Given the description of an element on the screen output the (x, y) to click on. 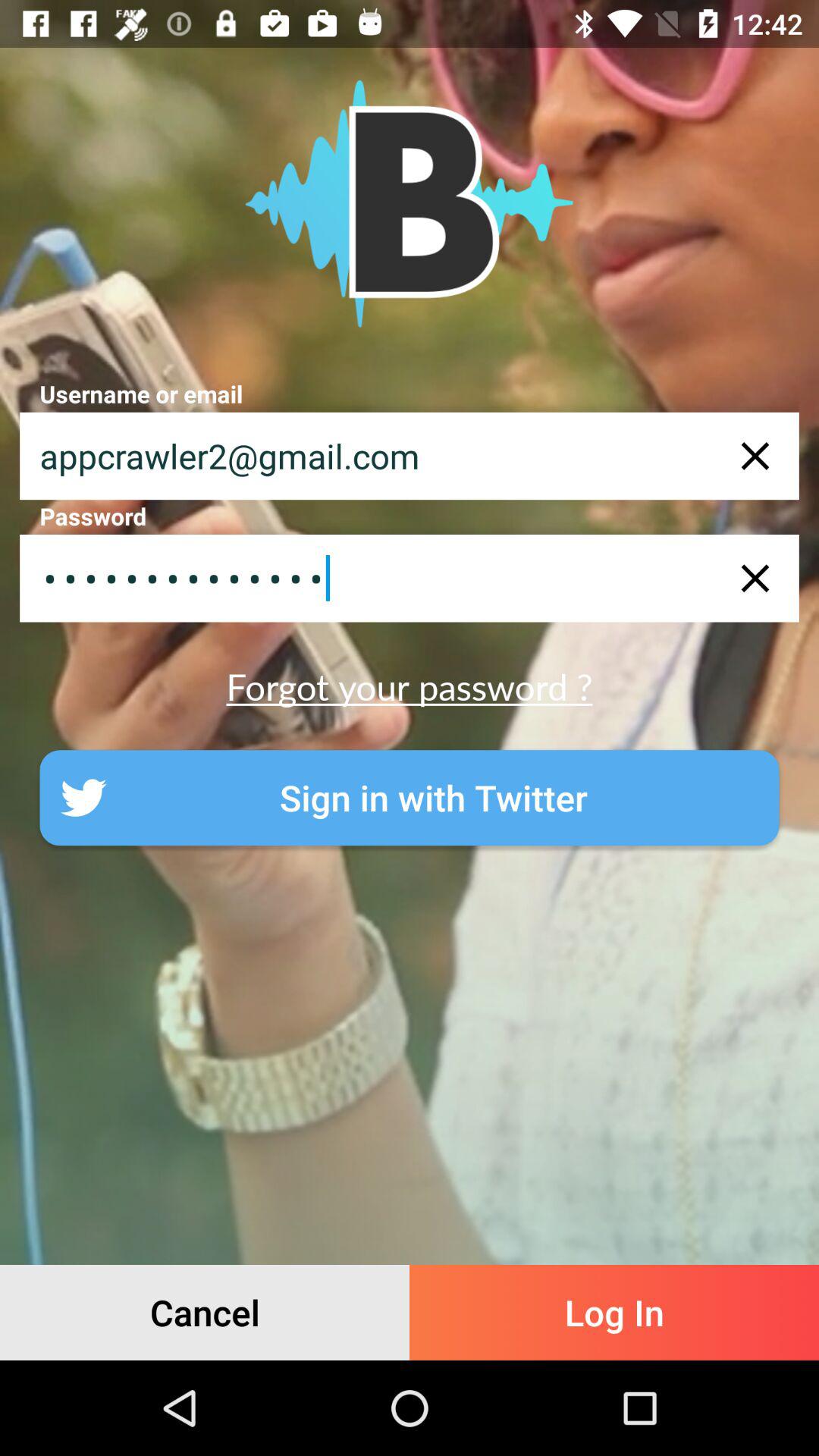
turn off the sign in with (409, 797)
